Given the description of an element on the screen output the (x, y) to click on. 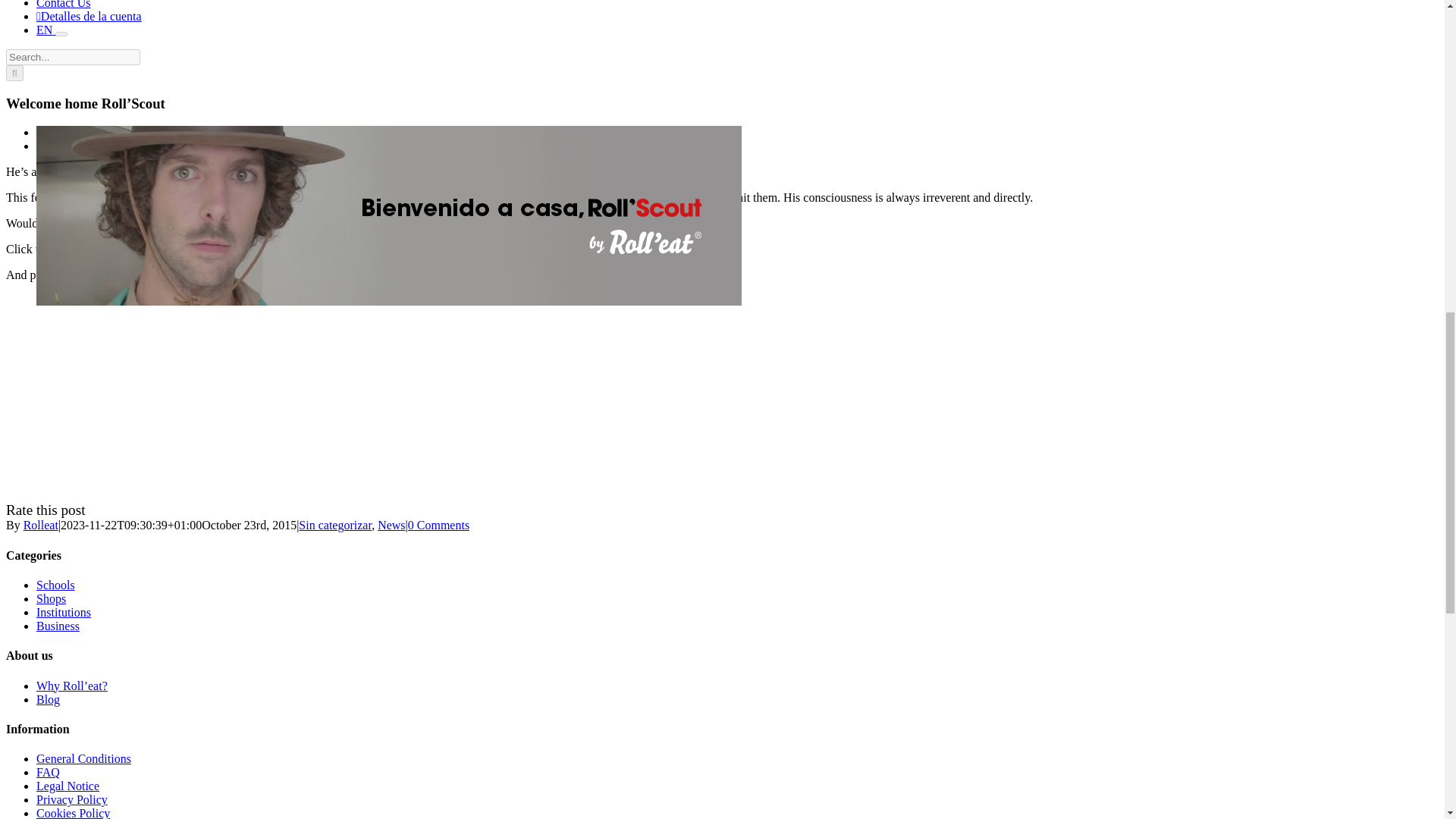
EN (45, 29)
Posts by Rolleat (40, 524)
